Given the description of an element on the screen output the (x, y) to click on. 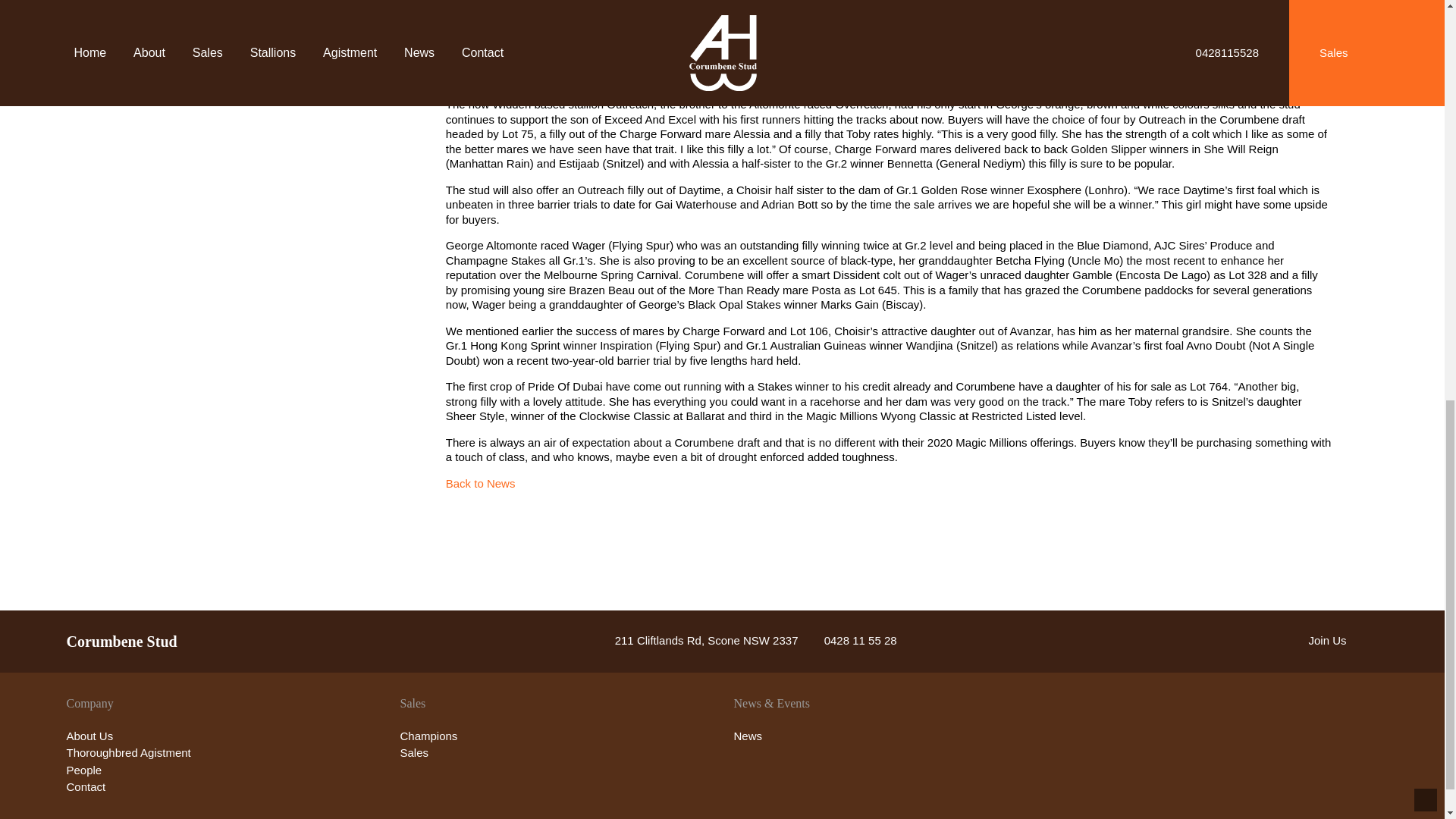
About Us (89, 735)
211 Cliftlands Rd, Scone NSW 2337 (695, 640)
Thoroughbred Agistment (128, 752)
Back to News (480, 482)
0428 11 55 28 (849, 640)
